Given the description of an element on the screen output the (x, y) to click on. 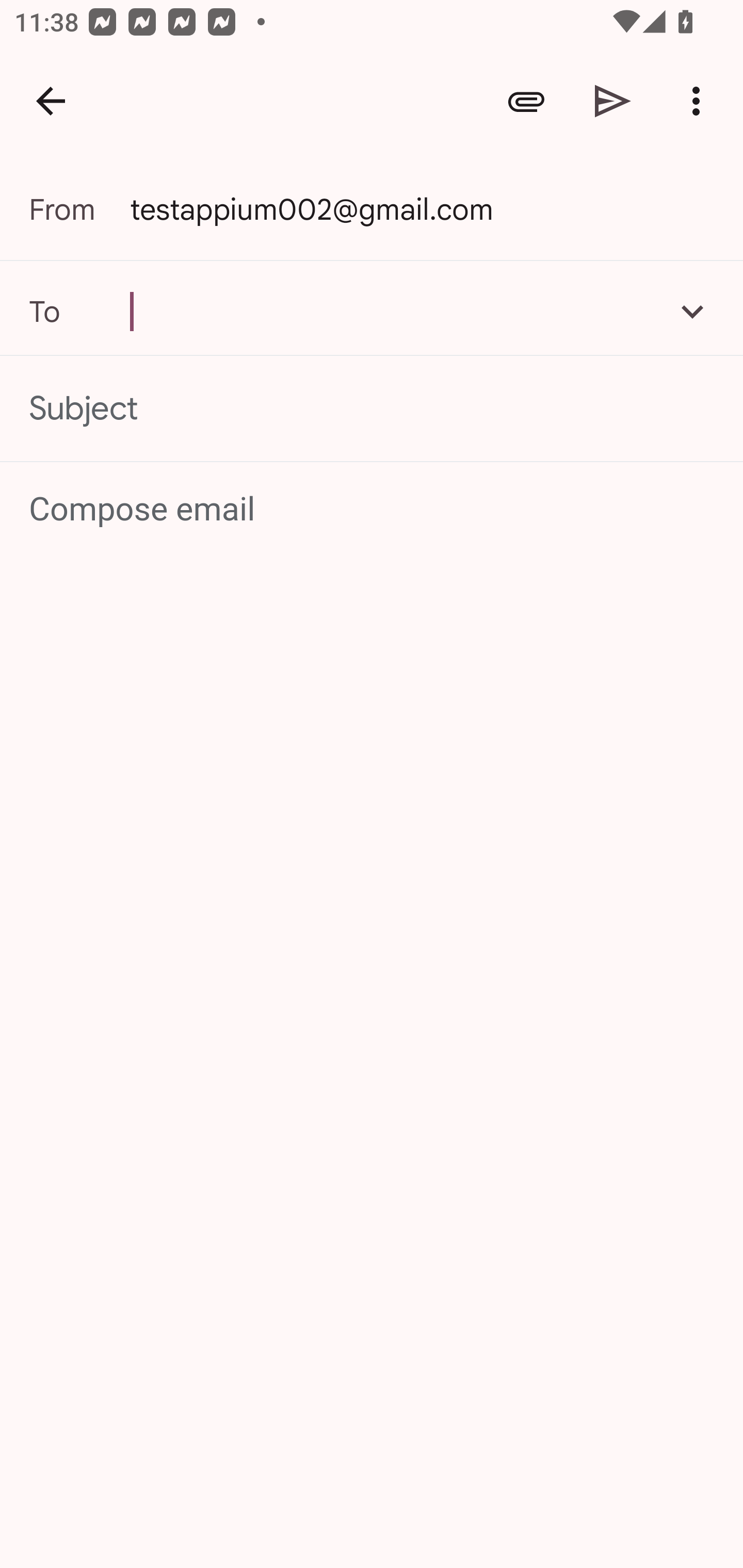
Navigate up (50, 101)
Attach file (525, 101)
Send (612, 101)
More options (699, 101)
From (79, 209)
Add Cc/Bcc (692, 311)
Subject (371, 407)
